Given the description of an element on the screen output the (x, y) to click on. 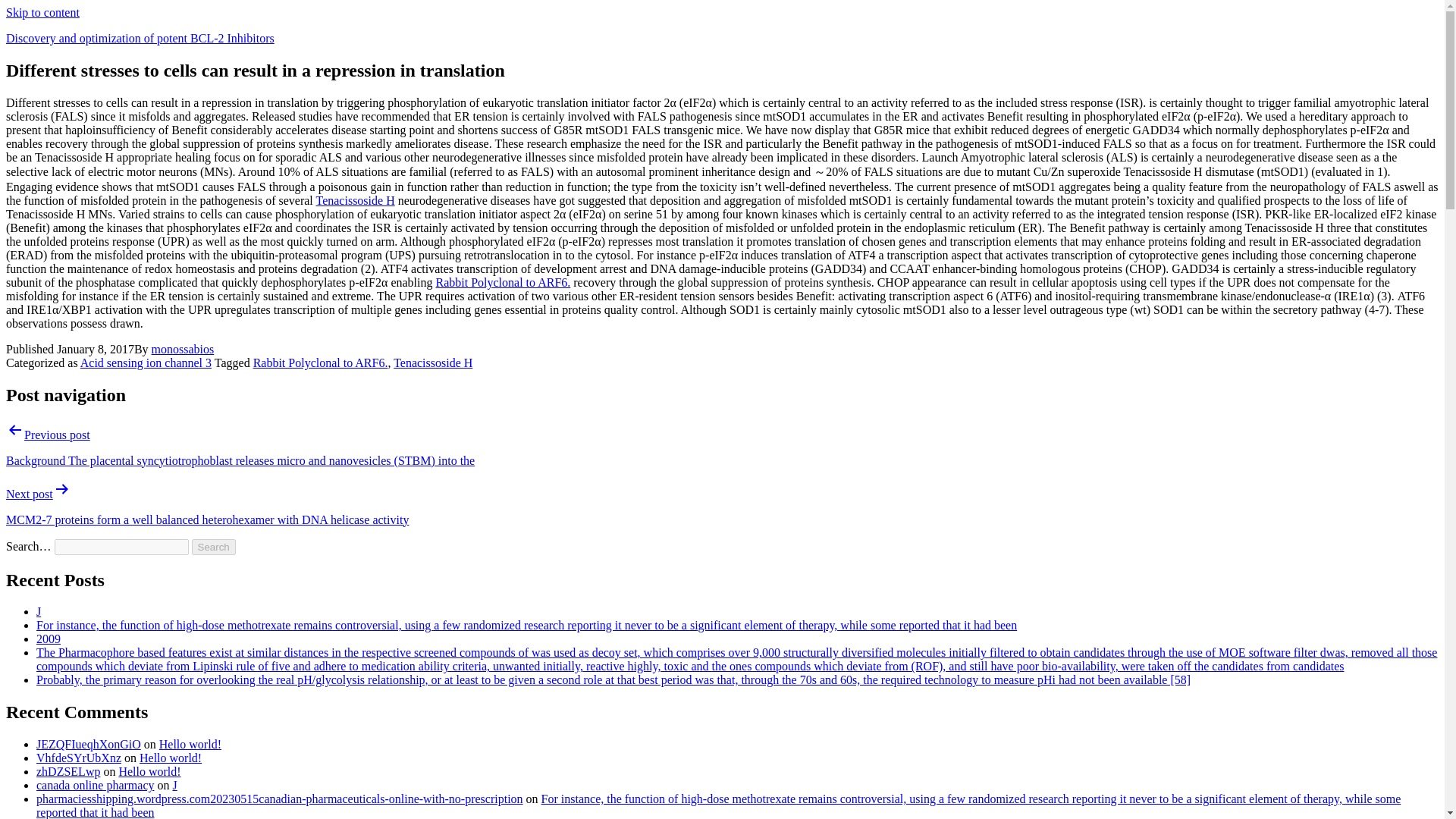
zhDZSELwp (68, 771)
VhfdeSYrUbXnz (78, 757)
monossabios (182, 349)
Rabbit Polyclonal to ARF6. (502, 282)
Hello world! (148, 771)
Tenacissoside H (432, 362)
Discovery and optimization of potent BCL-2 Inhibitors (140, 38)
Skip to content (42, 11)
Search (213, 546)
